Given the description of an element on the screen output the (x, y) to click on. 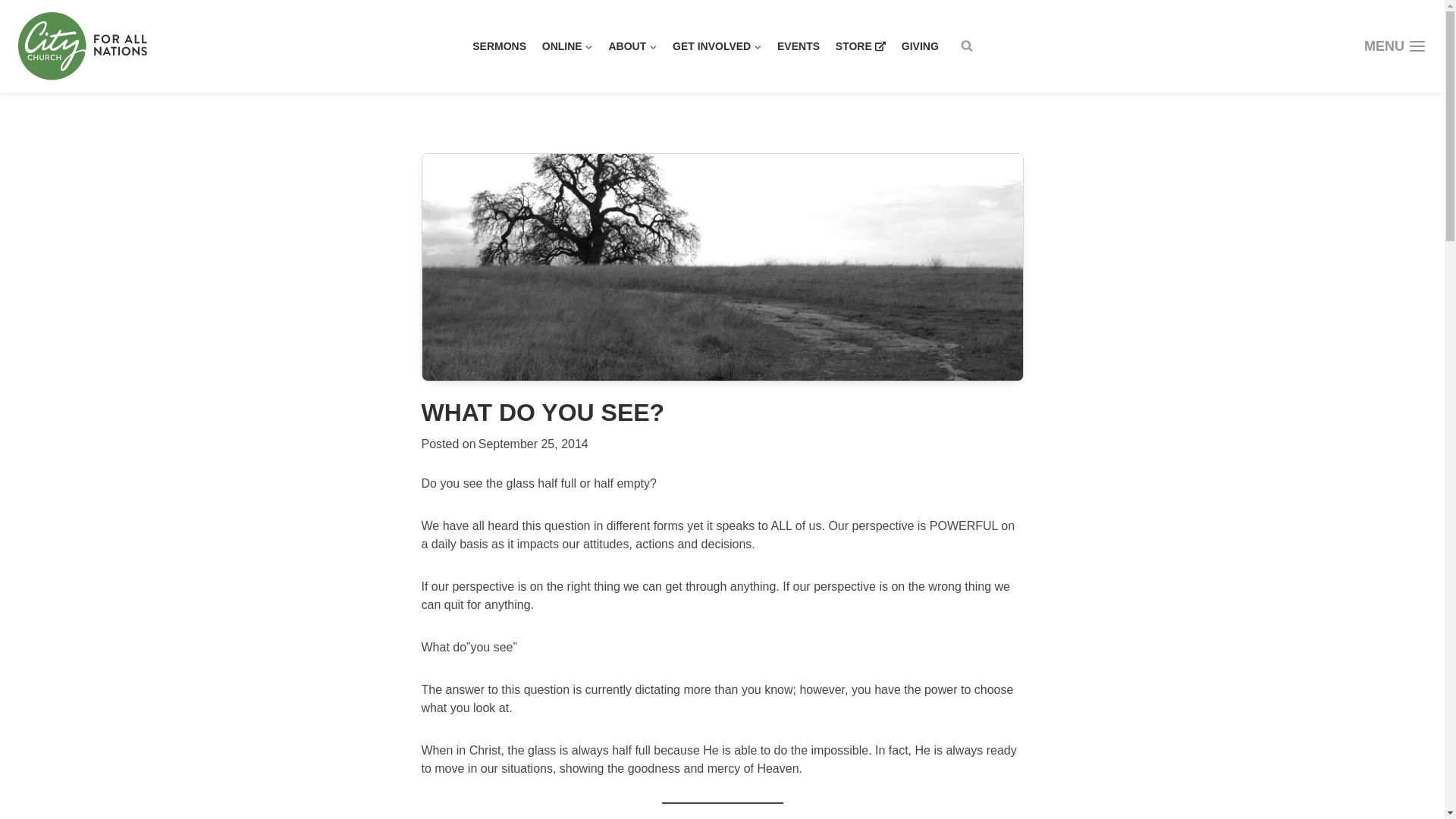
ABOUT (632, 45)
EVENTS (799, 45)
GIVING (919, 45)
SERMONS (499, 45)
ONLINE (566, 45)
MENU (1395, 46)
GET INVOLVED (717, 45)
STORE (860, 45)
